Given the description of an element on the screen output the (x, y) to click on. 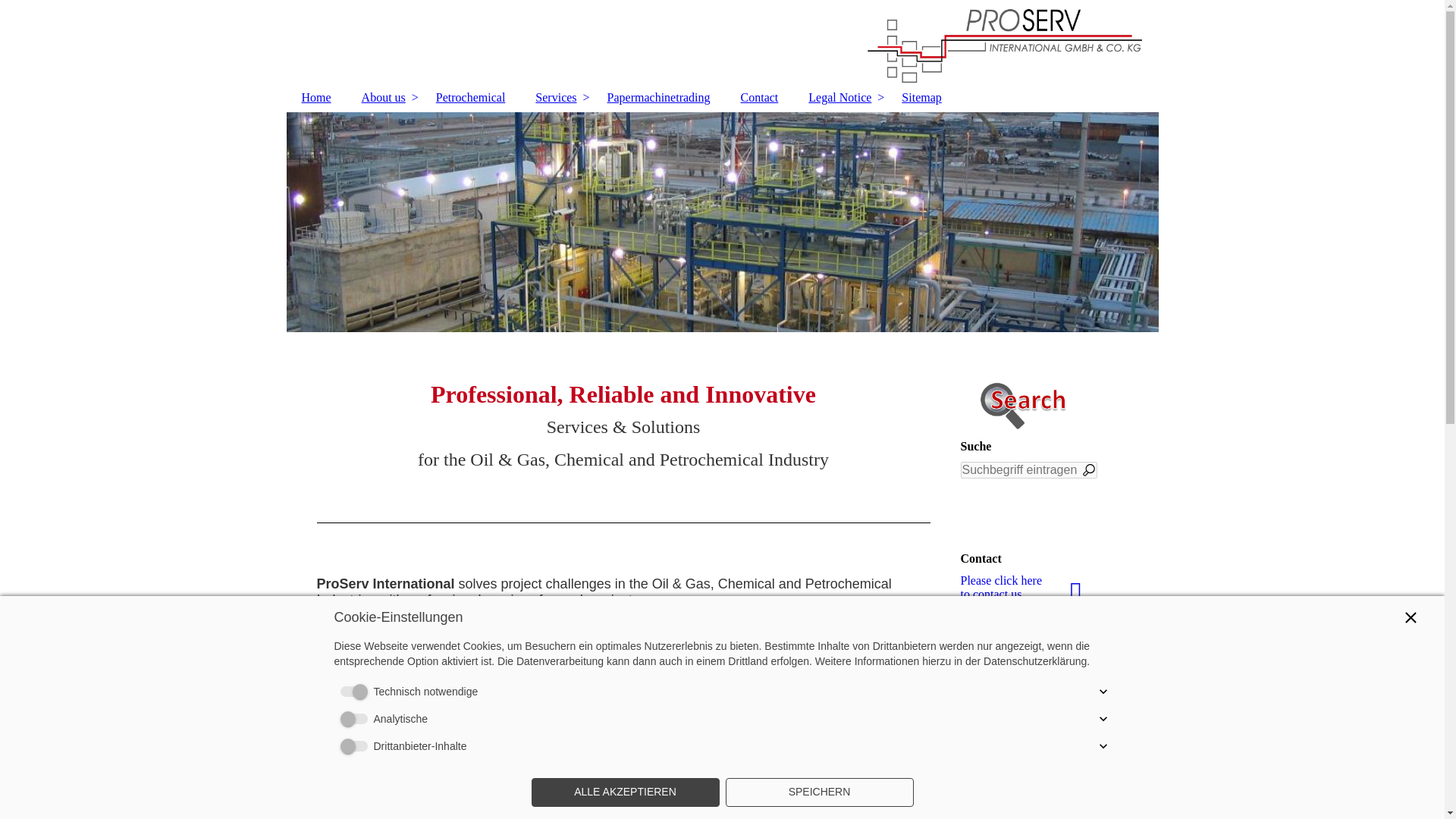
Contact (759, 97)
Cookie-Einstellungen (1013, 744)
Services (555, 97)
Papermachinetrading (658, 97)
About us (383, 97)
Sitemap (921, 97)
Legal Notice (839, 97)
Contact (759, 97)
Home (316, 97)
Petrochemical (470, 97)
Services (555, 97)
Petrochemical (470, 97)
Sitemap (921, 97)
Legal Notice (839, 97)
Home (316, 97)
